Given the description of an element on the screen output the (x, y) to click on. 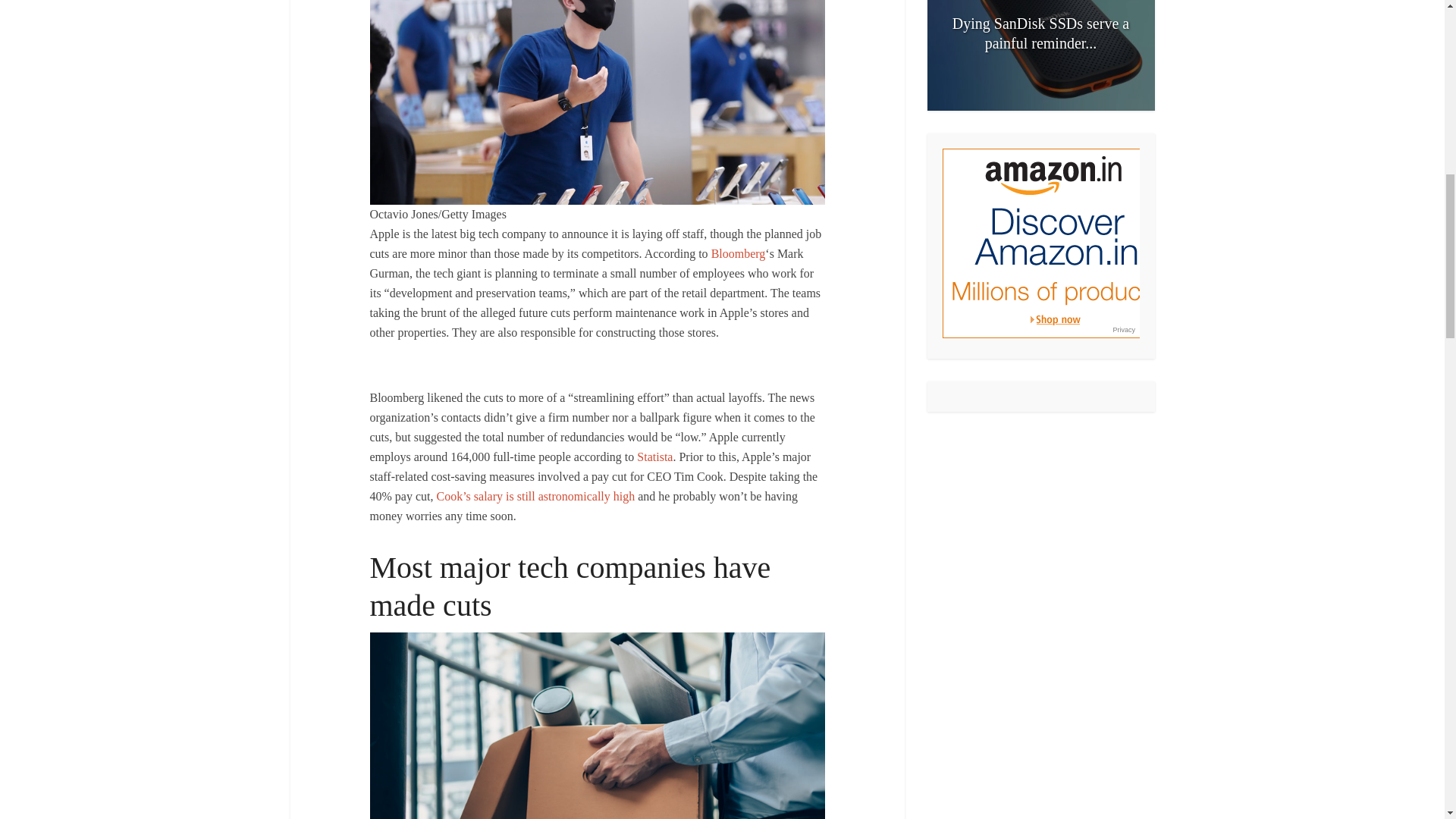
Bloomberg (738, 253)
Statista (654, 456)
